Given the description of an element on the screen output the (x, y) to click on. 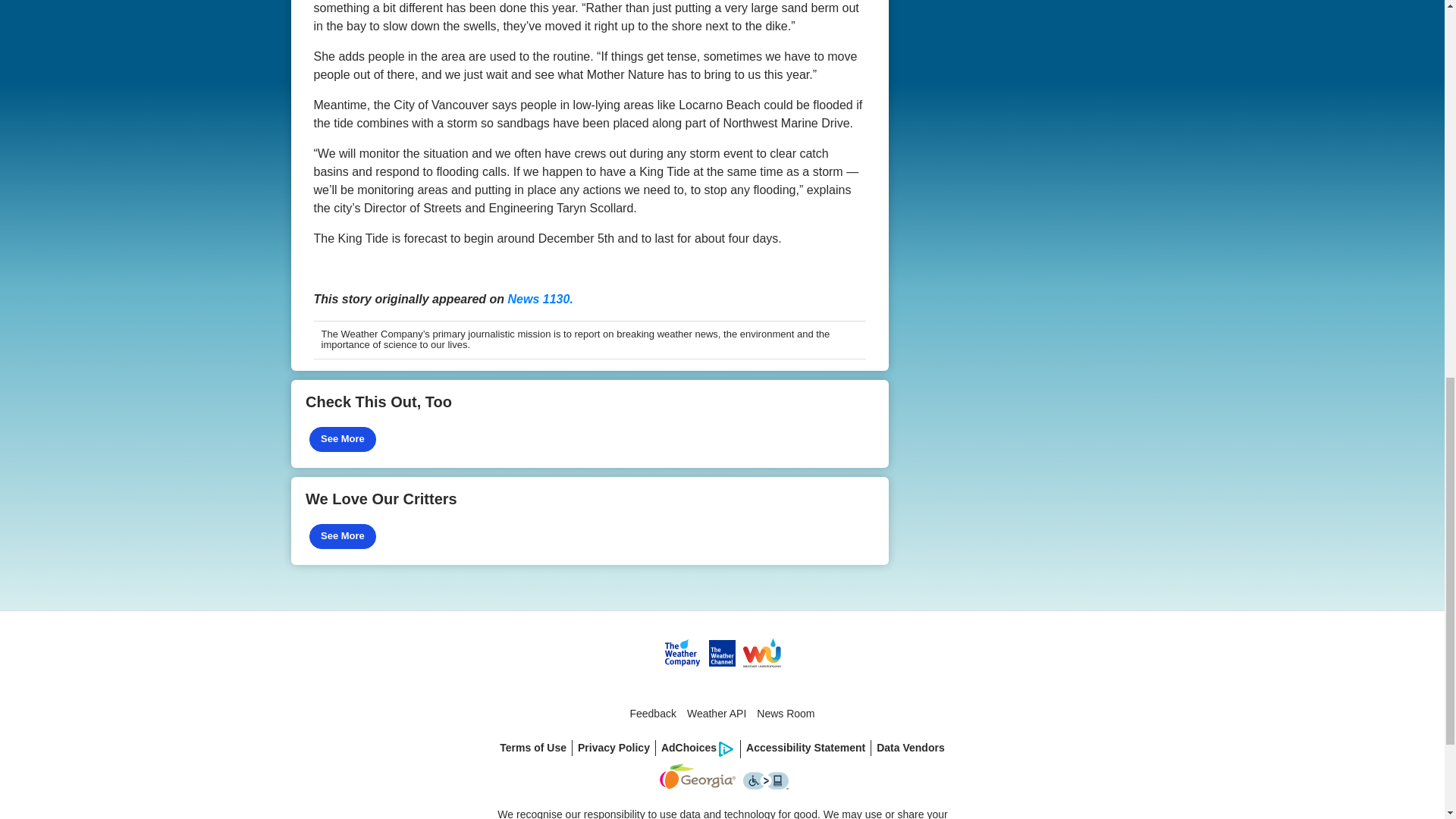
News 1130. (540, 298)
Feedback (652, 713)
Data Vendors (909, 747)
Georgia (695, 785)
Georgia (697, 776)
AdChoices (698, 749)
See More (341, 536)
eSSENTIAL Accessibility (765, 785)
We Love Our Critters (589, 520)
Privacy Policy (614, 747)
